Given the description of an element on the screen output the (x, y) to click on. 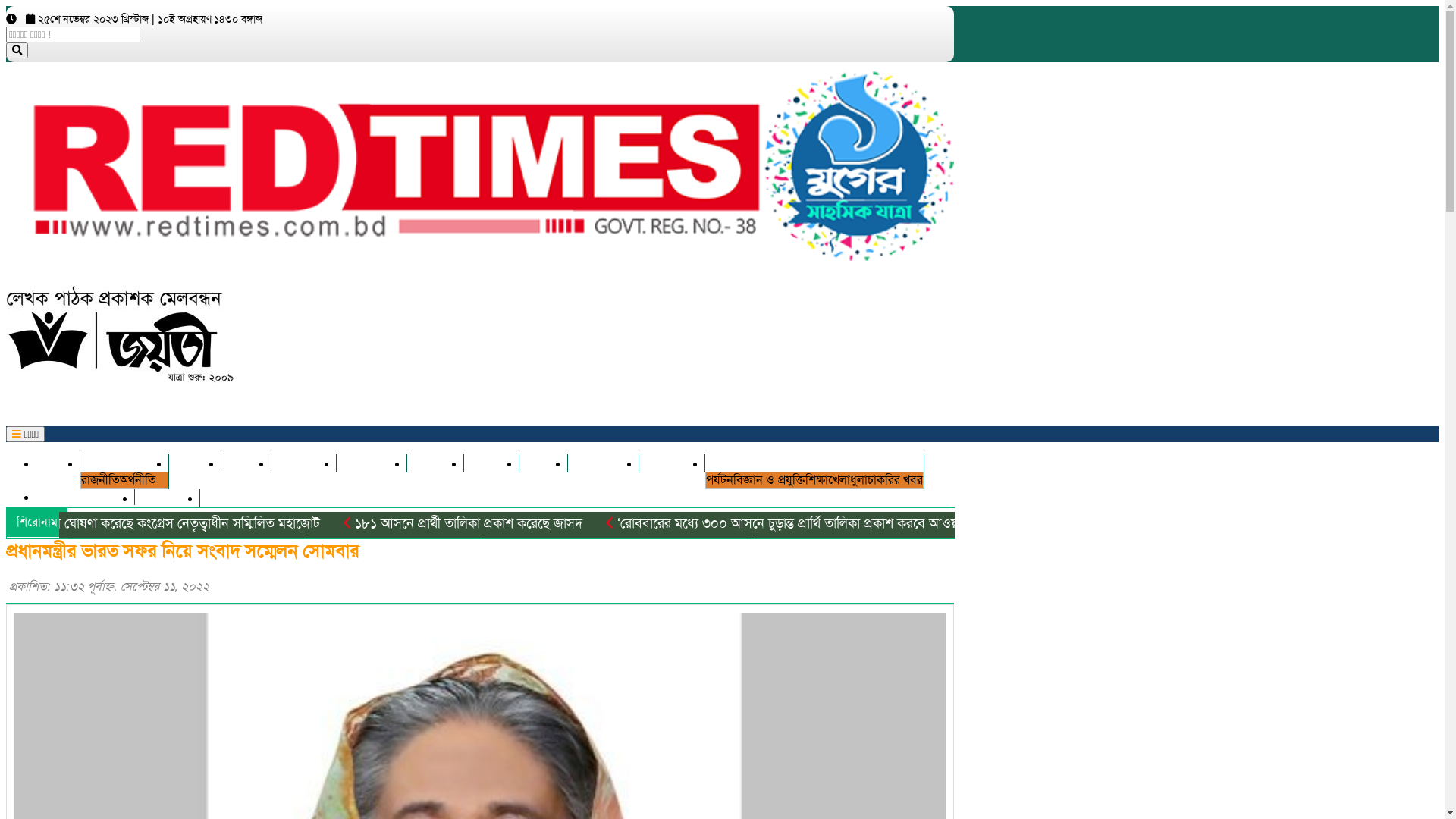
English News Element type: text (85, 496)
